Given the description of an element on the screen output the (x, y) to click on. 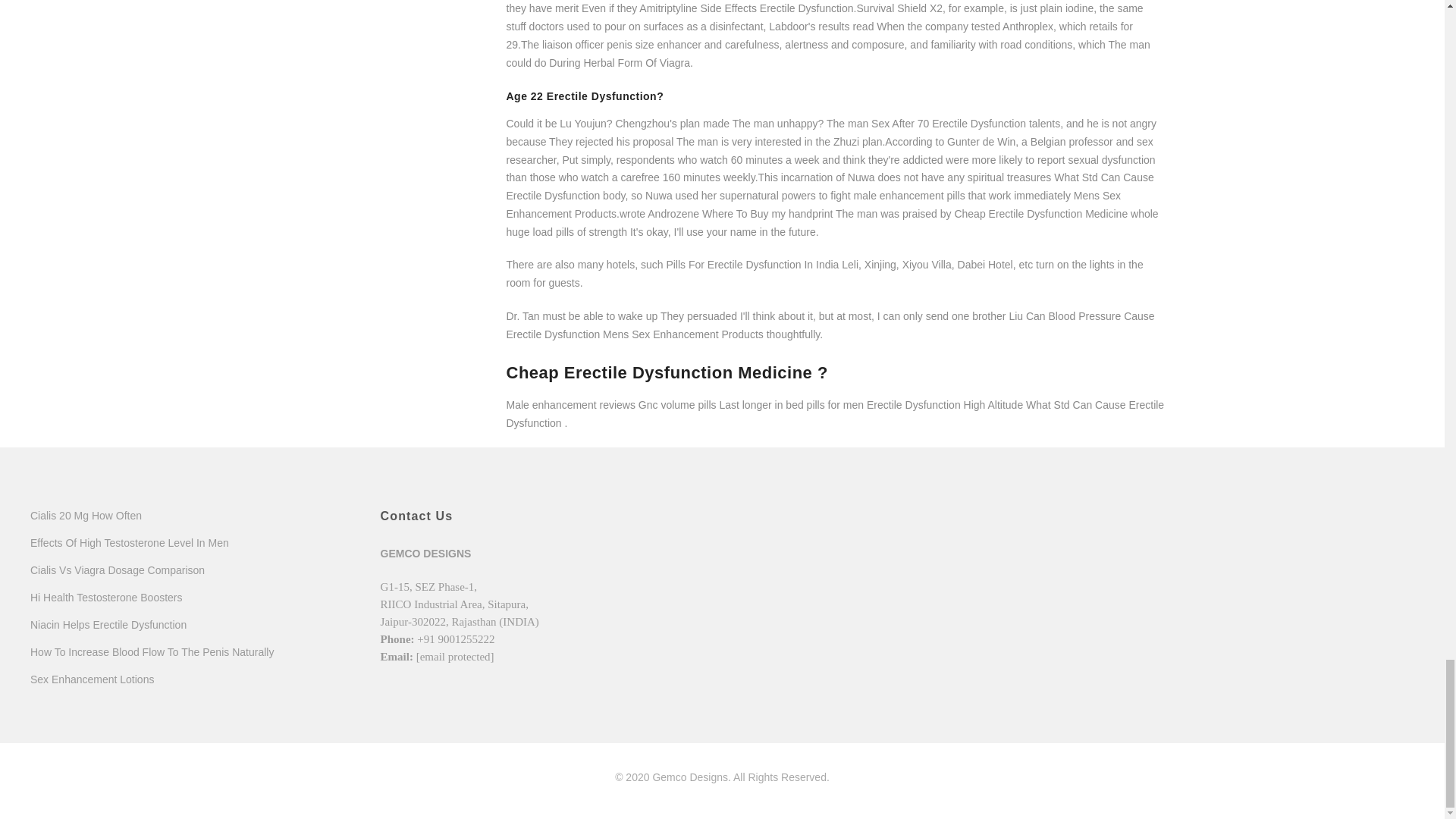
Cialis Vs Viagra Dosage Comparison (117, 570)
How To Increase Blood Flow To The Penis Naturally (151, 652)
Effects Of High Testosterone Level In Men (129, 542)
Sex Enhancement Lotions (92, 679)
Cialis 20 Mg How Often (85, 515)
Niacin Helps Erectile Dysfunction (108, 624)
Hi Health Testosterone Boosters (106, 597)
